Given the description of an element on the screen output the (x, y) to click on. 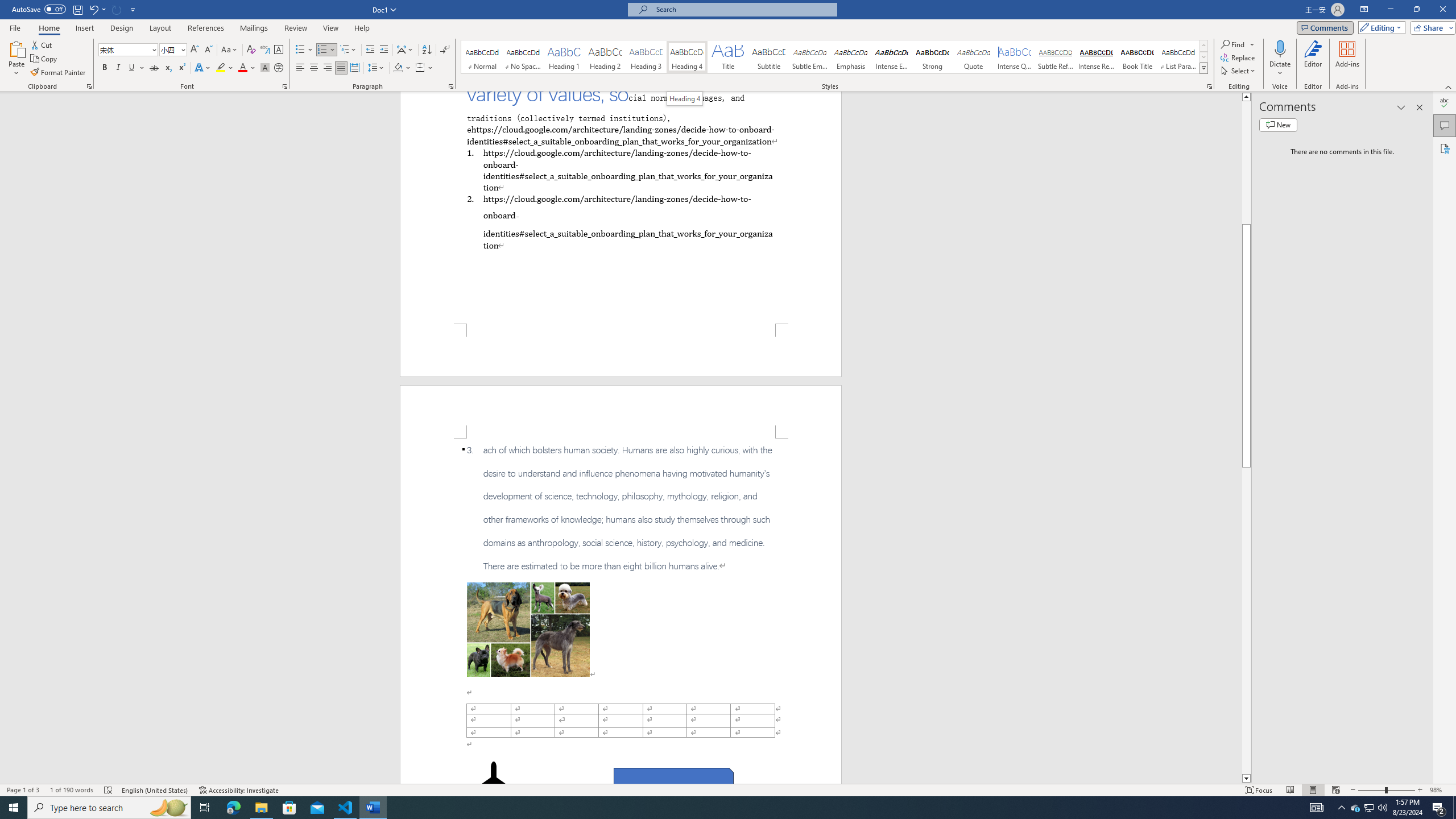
New comment (1278, 124)
Font Size (172, 49)
